Given the description of an element on the screen output the (x, y) to click on. 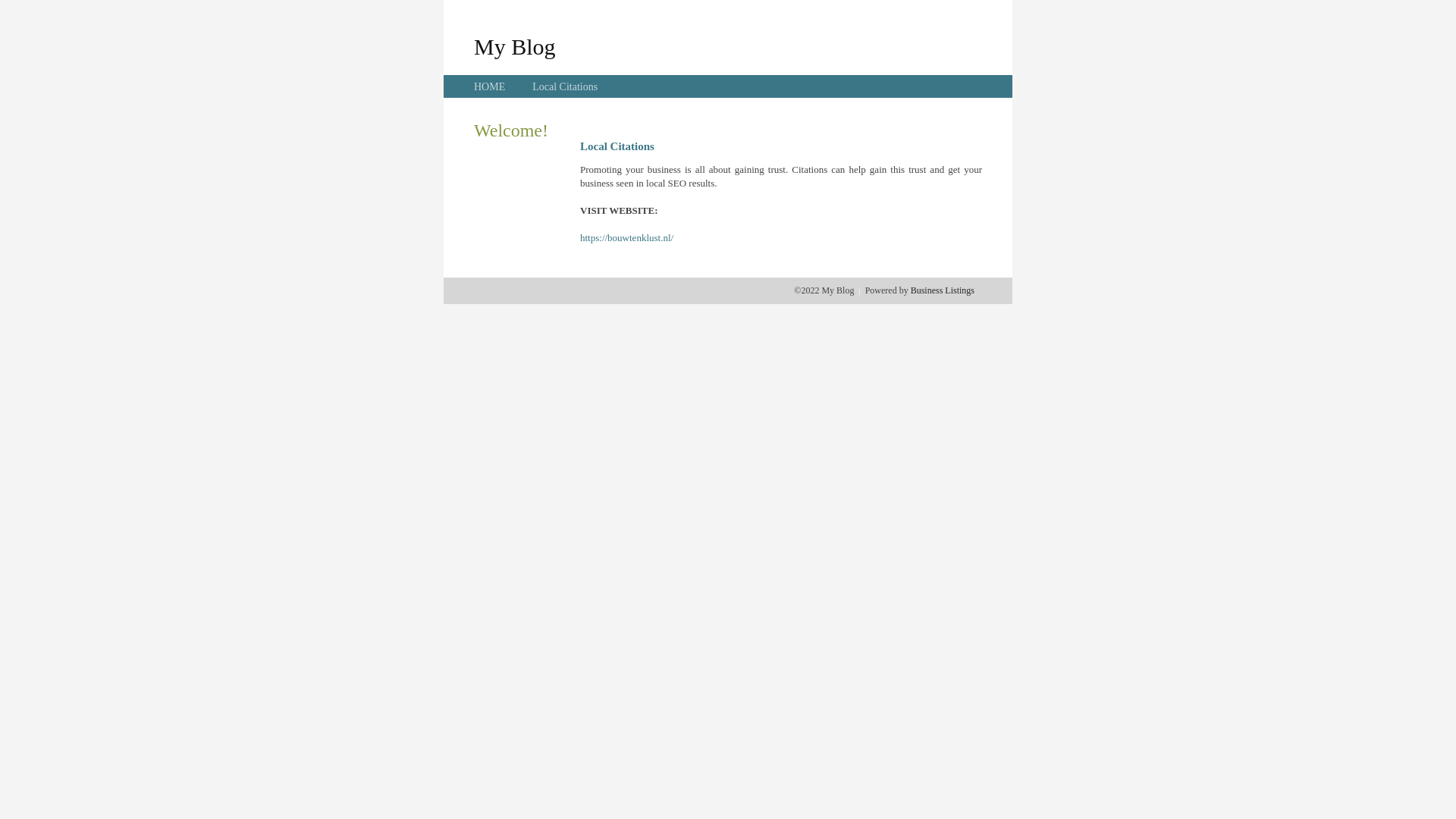
Local Citations Element type: text (564, 86)
HOME Element type: text (489, 86)
Business Listings Element type: text (942, 290)
https://bouwtenklust.nl/ Element type: text (626, 237)
My Blog Element type: text (514, 46)
